Given the description of an element on the screen output the (x, y) to click on. 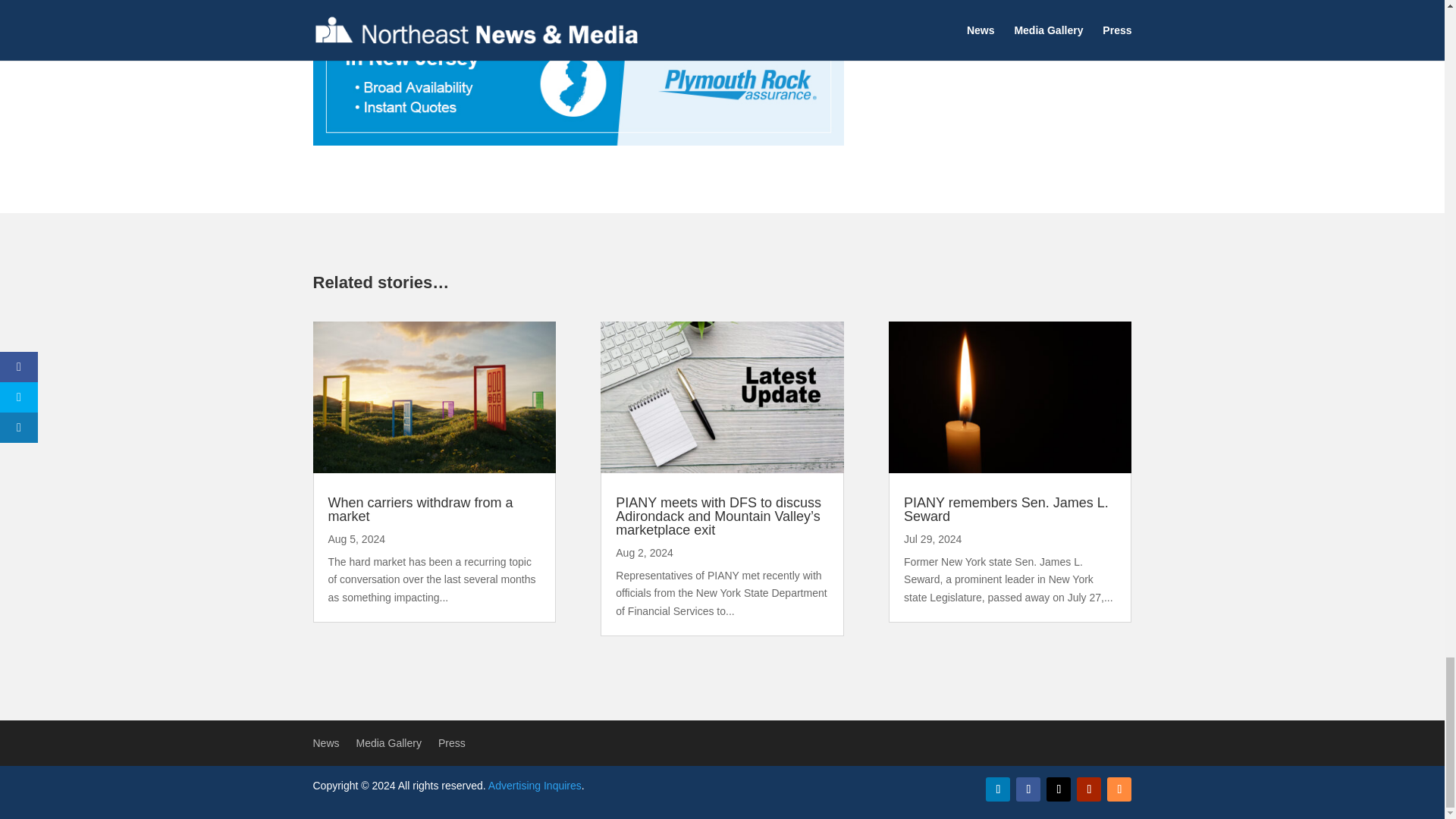
PIANY remembers Sen. James L. Seward  (1006, 509)
Advertising Inquires (533, 785)
Press (451, 745)
News (326, 745)
Follow on LinkedIn (997, 789)
When carriers withdraw from a market (419, 509)
Media Gallery (389, 745)
Follow on RSS (1118, 789)
Follow on Youtube (1088, 789)
Follow on X (1058, 789)
